Given the description of an element on the screen output the (x, y) to click on. 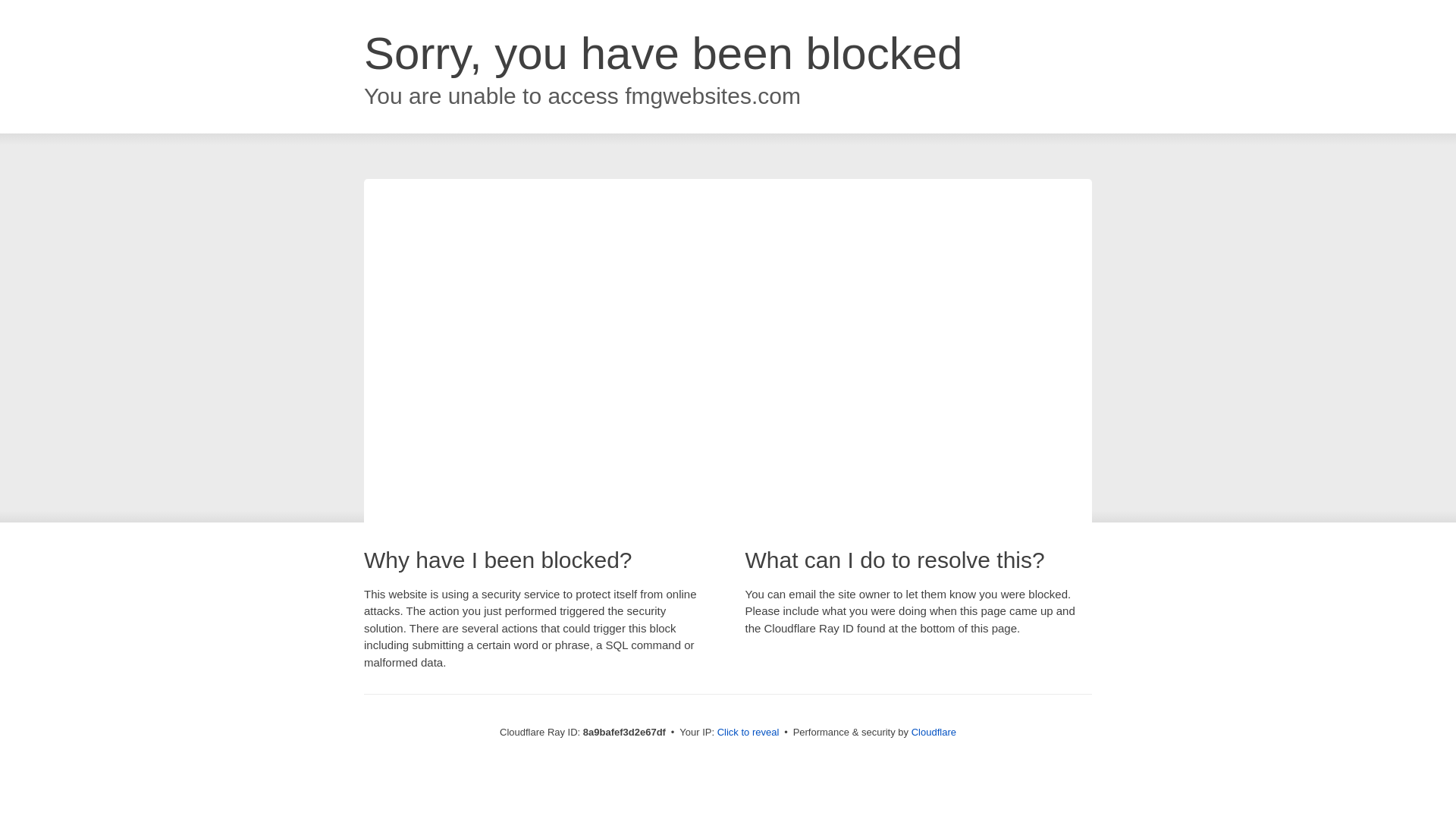
Cloudflare (933, 731)
Click to reveal (747, 732)
